Given the description of an element on the screen output the (x, y) to click on. 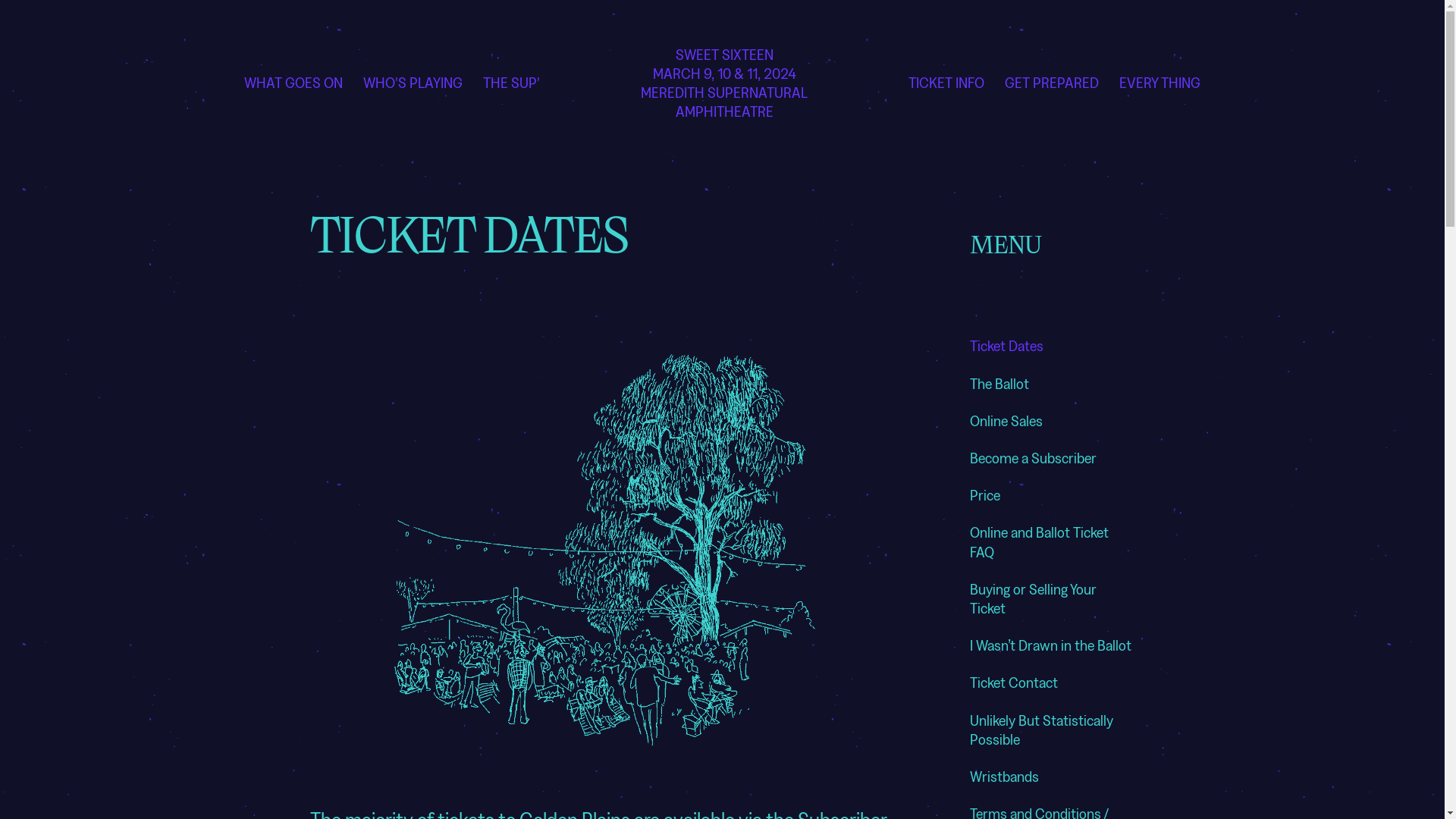
WHAT GOES ON Element type: text (293, 82)
GET PREPARED Element type: text (1051, 82)
Price Element type: text (984, 494)
TICKET INFO Element type: text (946, 82)
Become a Subscriber Element type: text (1032, 457)
Ticket Contact Element type: text (1013, 681)
The Ballot Element type: text (999, 383)
Online Sales Element type: text (1005, 420)
Wristbands Element type: text (1003, 775)
Buying or Selling Your Ticket Element type: text (1032, 598)
Unlikely But Statistically Possible Element type: text (1041, 729)
EVERY THING Element type: text (1159, 82)
THE SUP' Element type: text (511, 82)
WHO'S PLAYING Element type: text (412, 82)
Ticket Dates Element type: text (1006, 345)
Online and Ballot Ticket FAQ Element type: text (1038, 541)
